Given the description of an element on the screen output the (x, y) to click on. 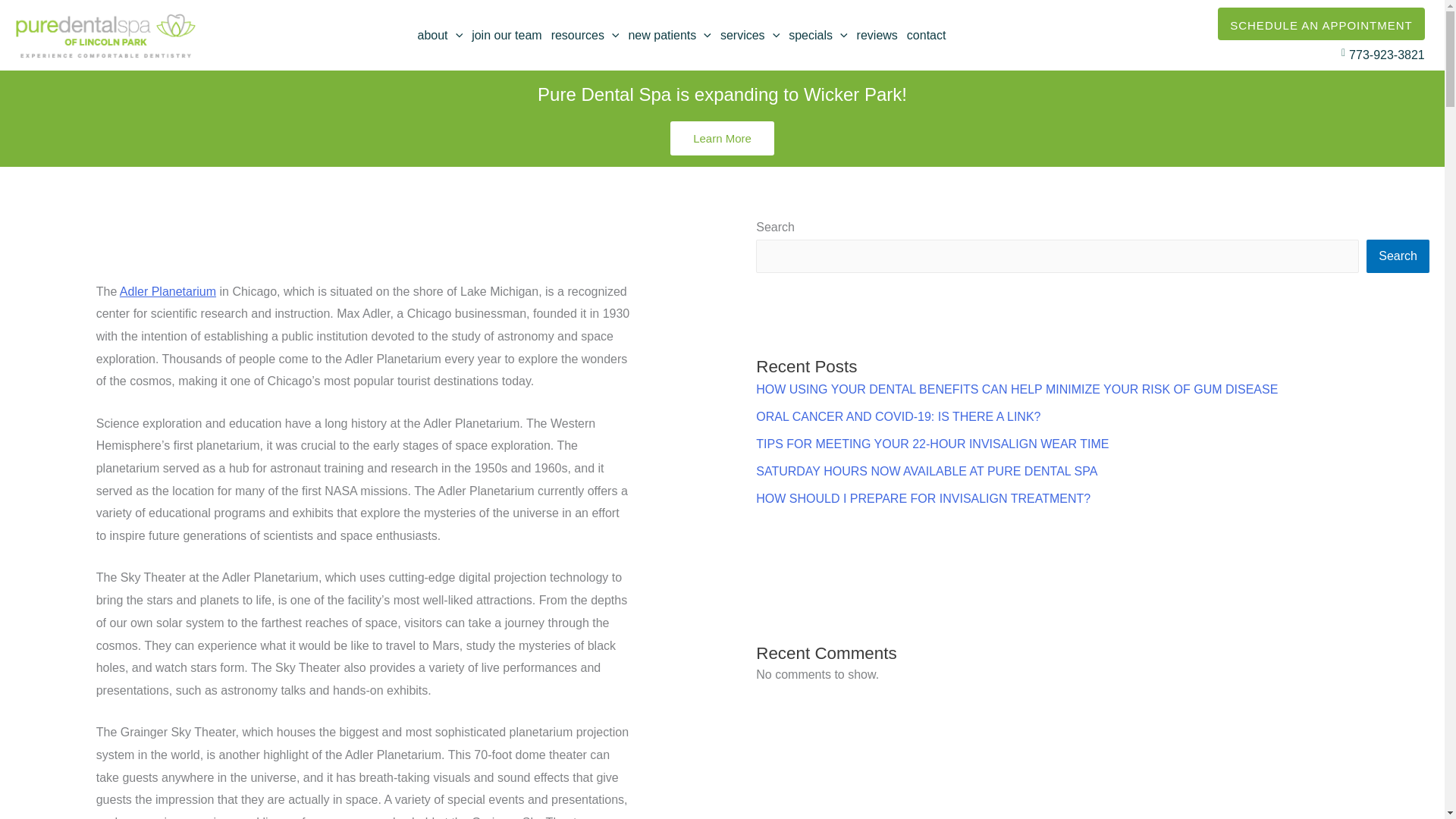
reviews (876, 34)
specials (817, 34)
about (439, 34)
resources (585, 34)
services (750, 34)
join our team (507, 34)
new patients (668, 34)
